Given the description of an element on the screen output the (x, y) to click on. 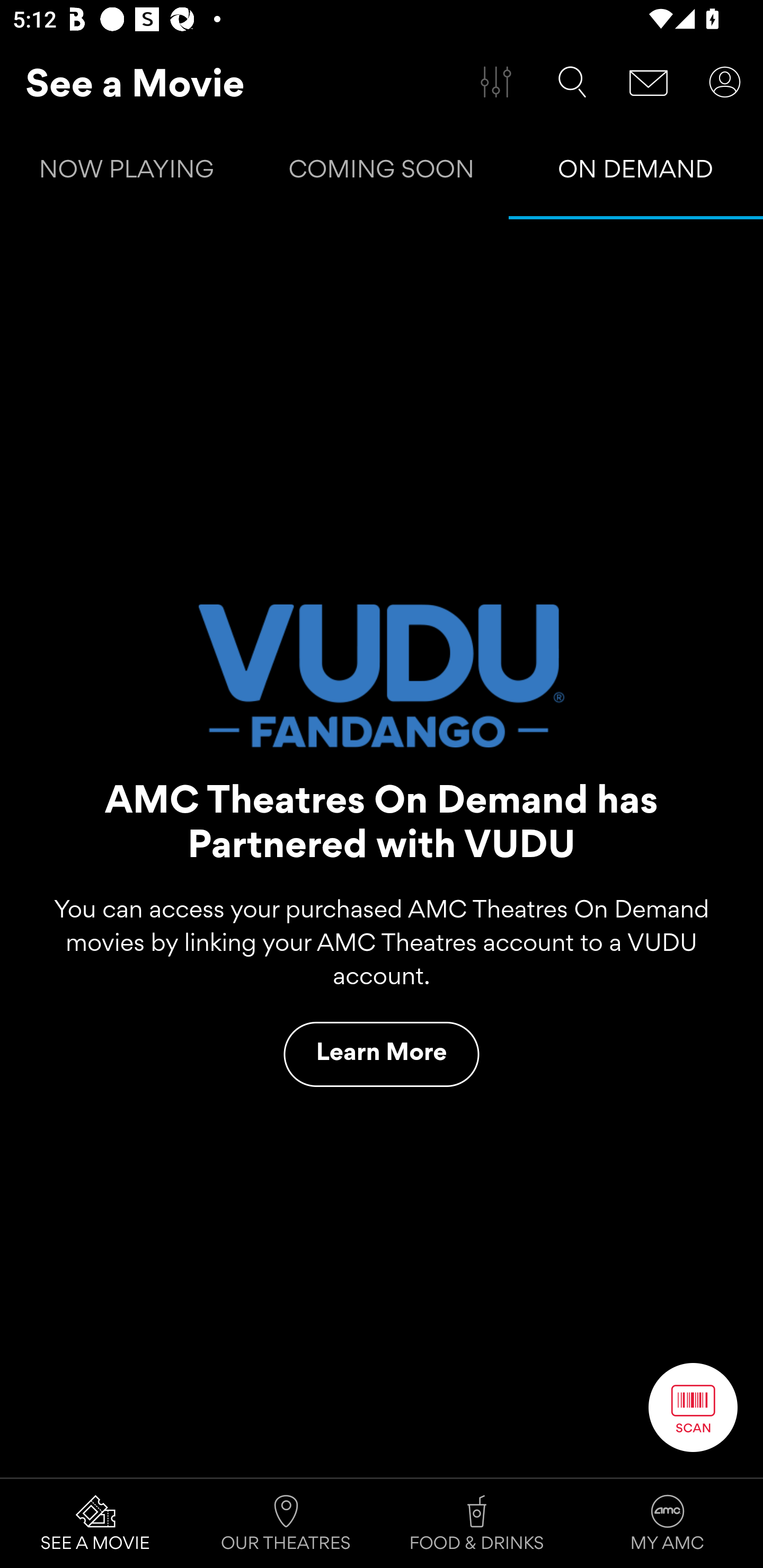
Search (572, 82)
Message Center (648, 82)
User Account (724, 82)
NOW PLAYING
Tab 1 of 3 (127, 173)
COMING SOON
Tab 2 of 3 (381, 173)
ON DEMAND
Tab 3 of 3 (635, 173)
Learn More (381, 1054)
Scan Button (692, 1406)
SEE A MOVIE
Tab 1 of 4 (95, 1523)
OUR THEATRES
Tab 2 of 4 (285, 1523)
FOOD & DRINKS
Tab 3 of 4 (476, 1523)
MY AMC
Tab 4 of 4 (667, 1523)
